Given the description of an element on the screen output the (x, y) to click on. 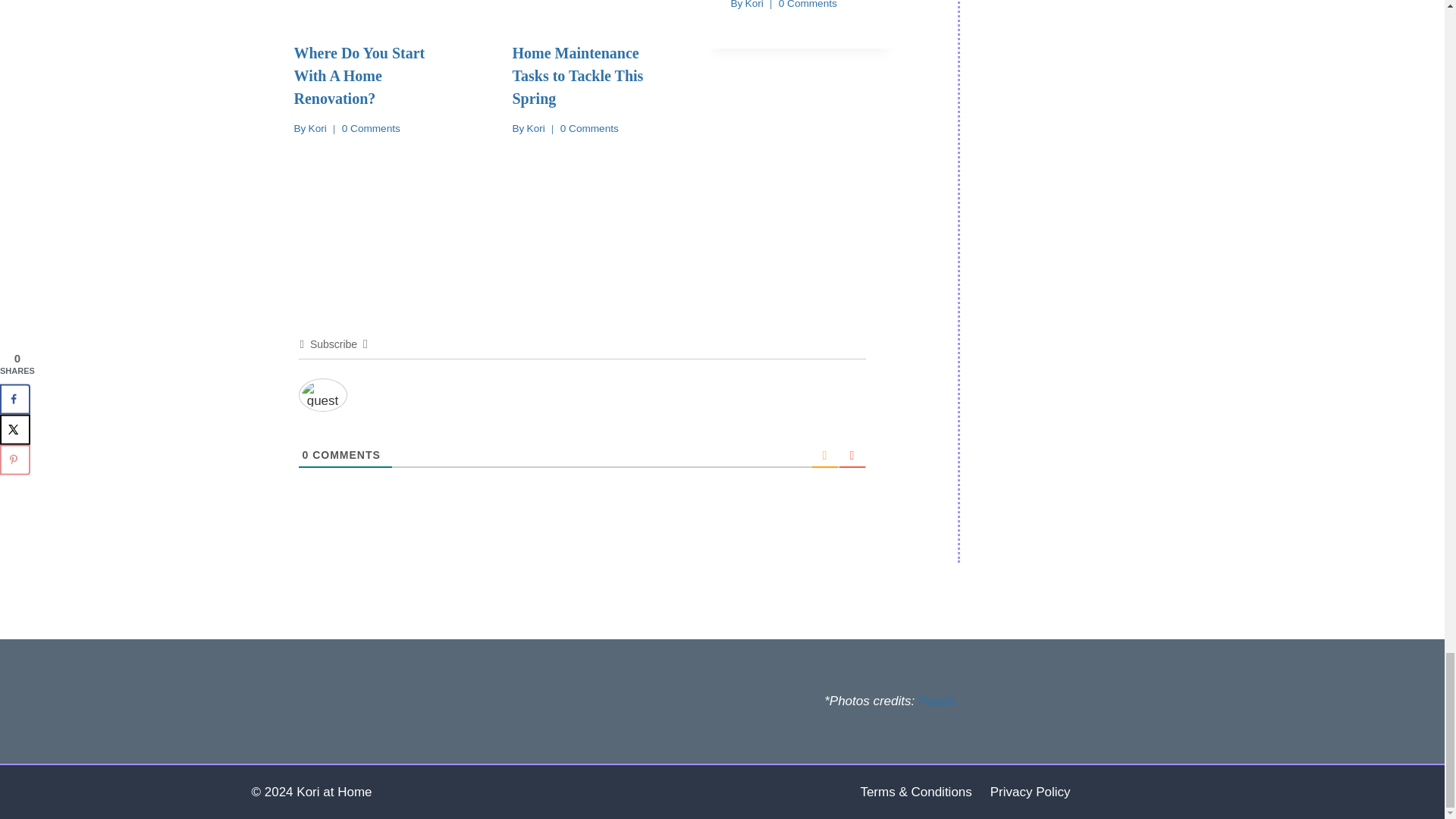
0 Comments (807, 6)
0 Comments (589, 128)
0 Comments (371, 128)
